Given the description of an element on the screen output the (x, y) to click on. 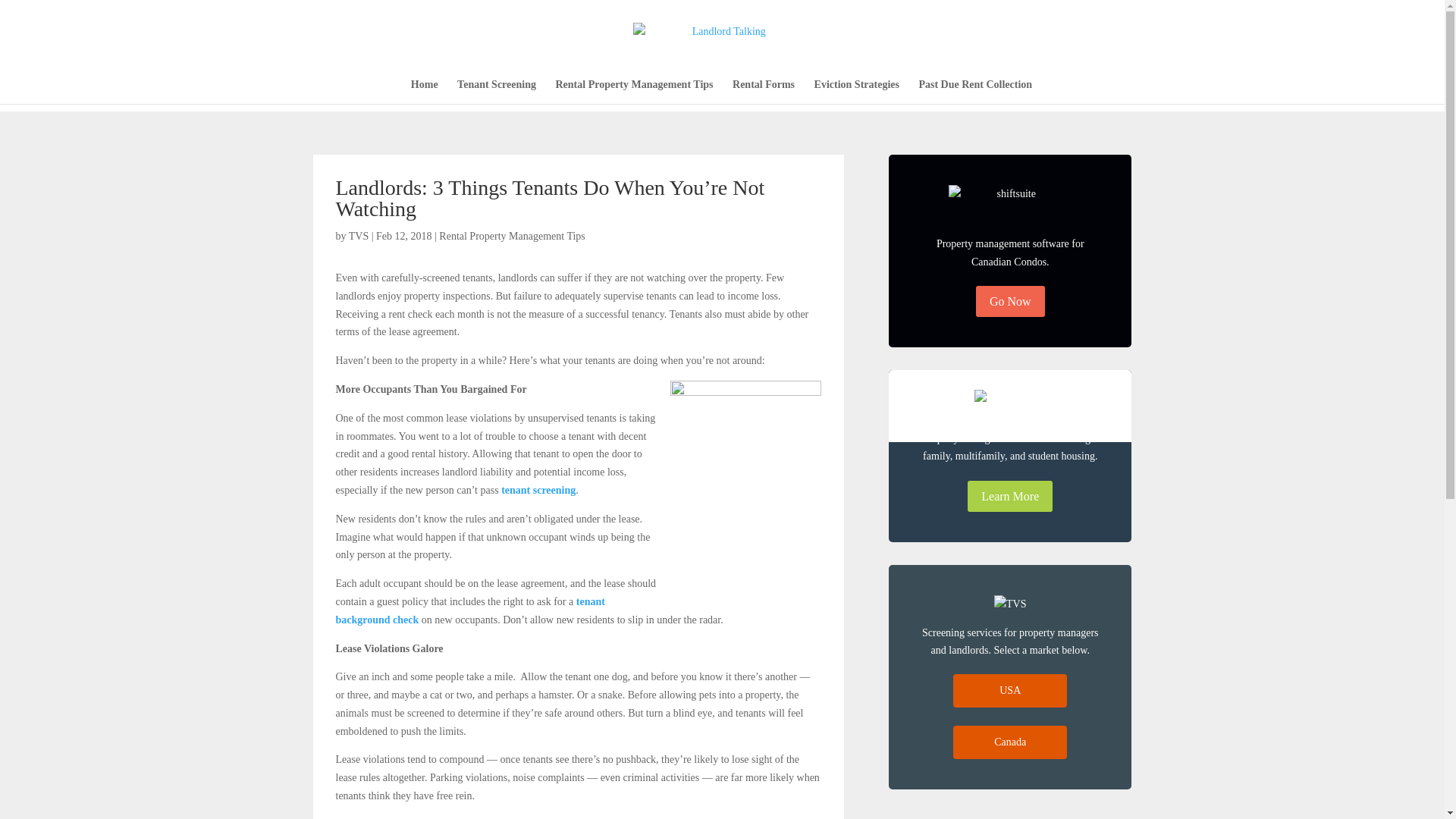
USA (1010, 690)
Posts by TVS (358, 235)
Home (424, 91)
Learn More (1010, 495)
Rental Property Management Tips (512, 235)
TVS (358, 235)
Screening for Canada (1010, 742)
Tenant Screening (496, 91)
Rental Forms (763, 91)
Past Due Rent Collection (975, 91)
